Given the description of an element on the screen output the (x, y) to click on. 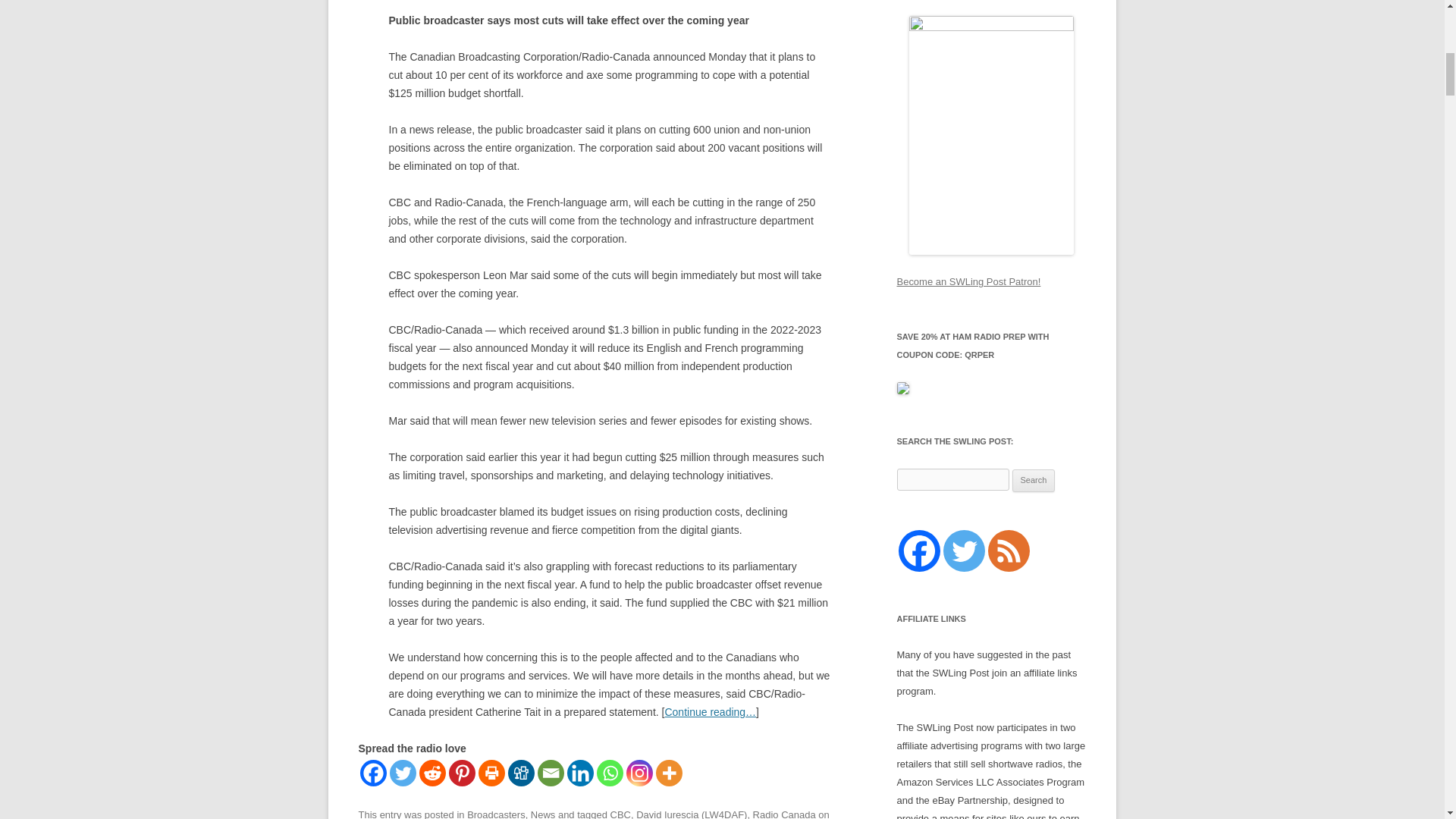
Linkedin (580, 773)
Radio Canada (783, 814)
Search (1033, 480)
Pinterest (462, 773)
Facebook (372, 773)
News (542, 814)
Instagram (639, 773)
Digg (521, 773)
Reddit (432, 773)
Broadcasters (496, 814)
Whatsapp (609, 773)
More (668, 773)
Twitter (403, 773)
Email (550, 773)
Print (490, 773)
